Given the description of an element on the screen output the (x, y) to click on. 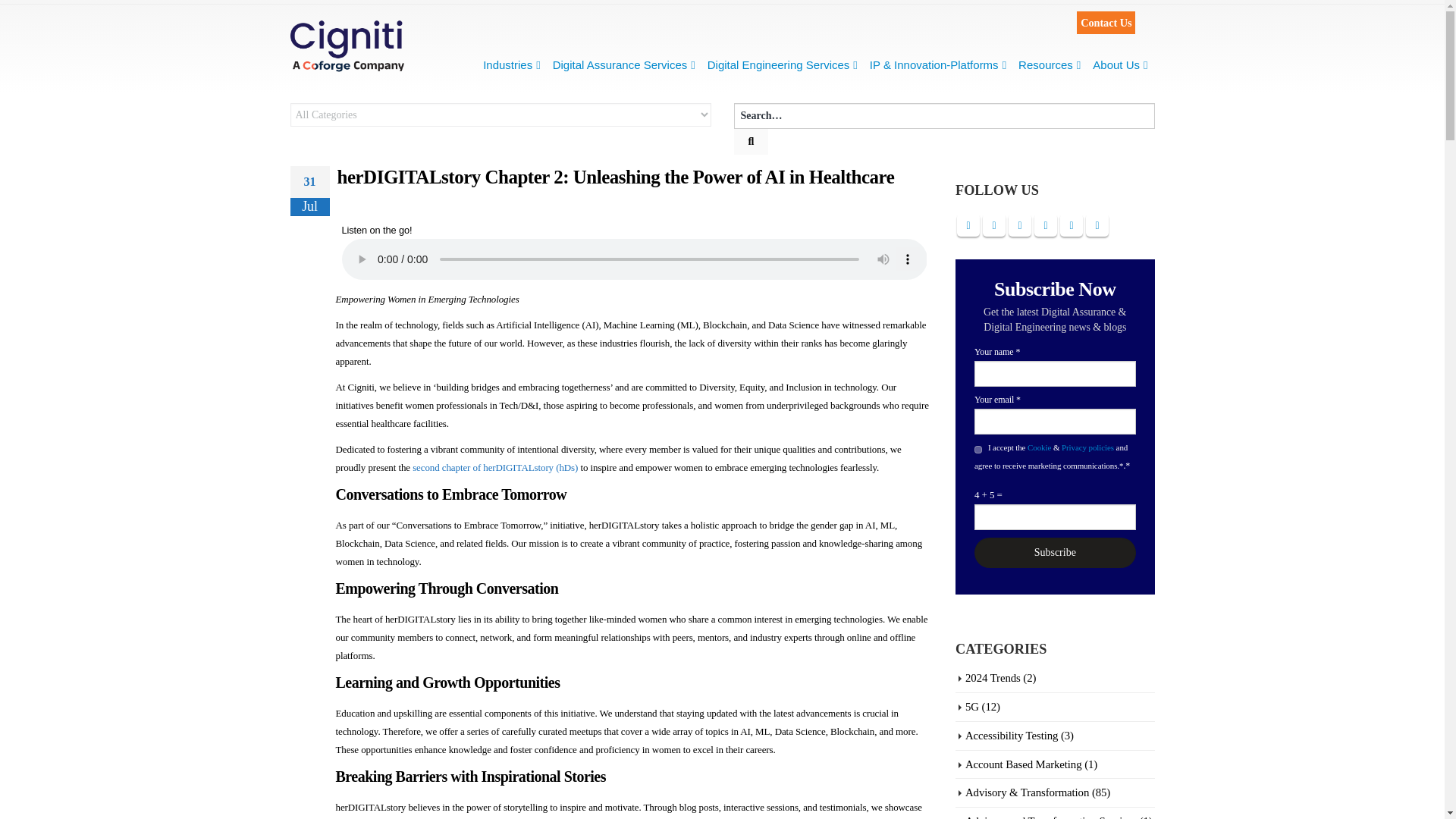
Digital Assurance Services (623, 64)
Search (750, 141)
Subscribe (1054, 552)
1 (977, 449)
Industries (511, 64)
Facebook (967, 224)
Youtube (1045, 224)
Instagram (1071, 224)
RSS (1019, 224)
Contact Us (1106, 22)
Twitter (994, 224)
